Given the description of an element on the screen output the (x, y) to click on. 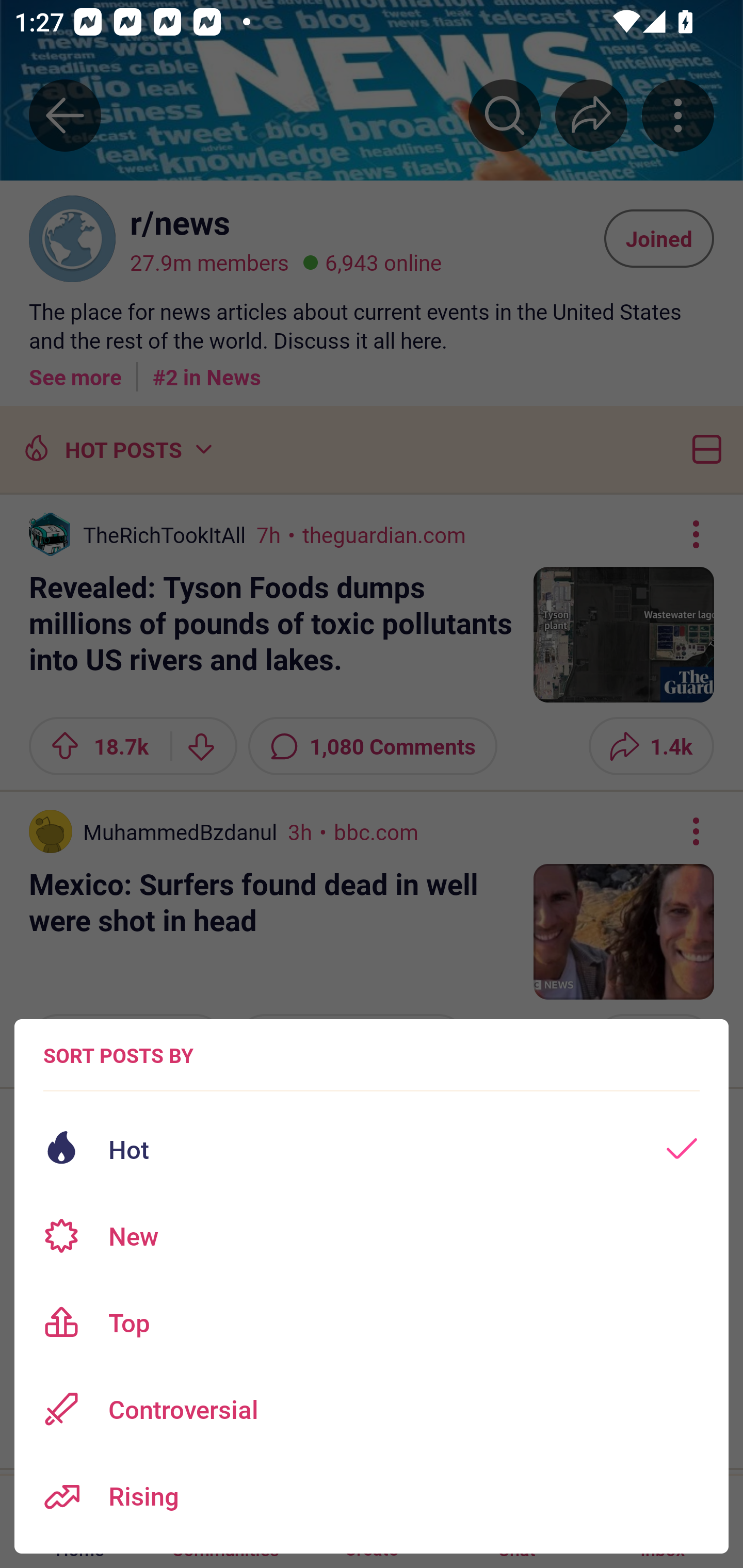
SORT POSTS BY Sort posts options (118, 1055)
Hot (371, 1149)
New (371, 1236)
Top (371, 1322)
Controversial (371, 1408)
Rising (371, 1495)
